Given the description of an element on the screen output the (x, y) to click on. 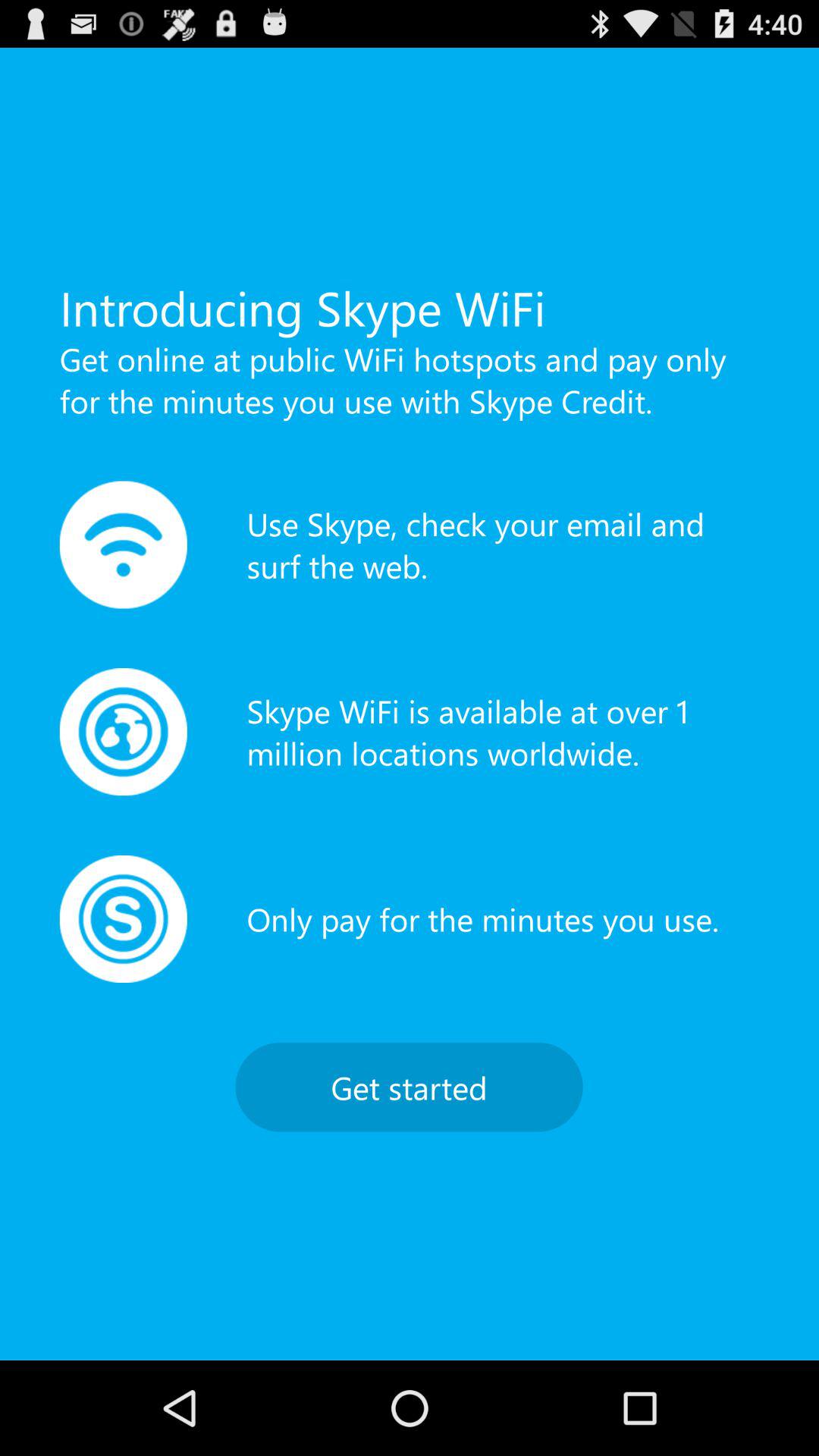
turn off icon below the only pay for (408, 1086)
